Given the description of an element on the screen output the (x, y) to click on. 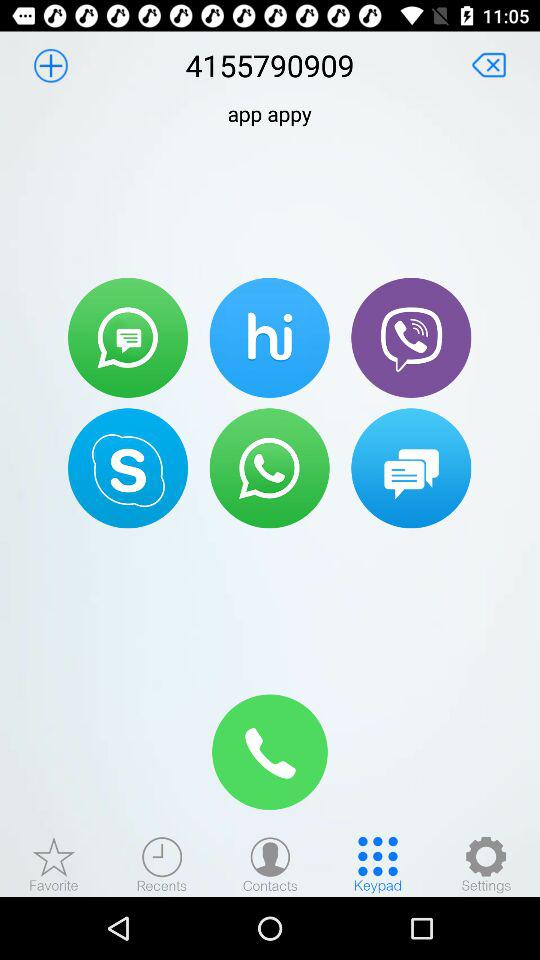
add the information to your contacts (50, 65)
